Given the description of an element on the screen output the (x, y) to click on. 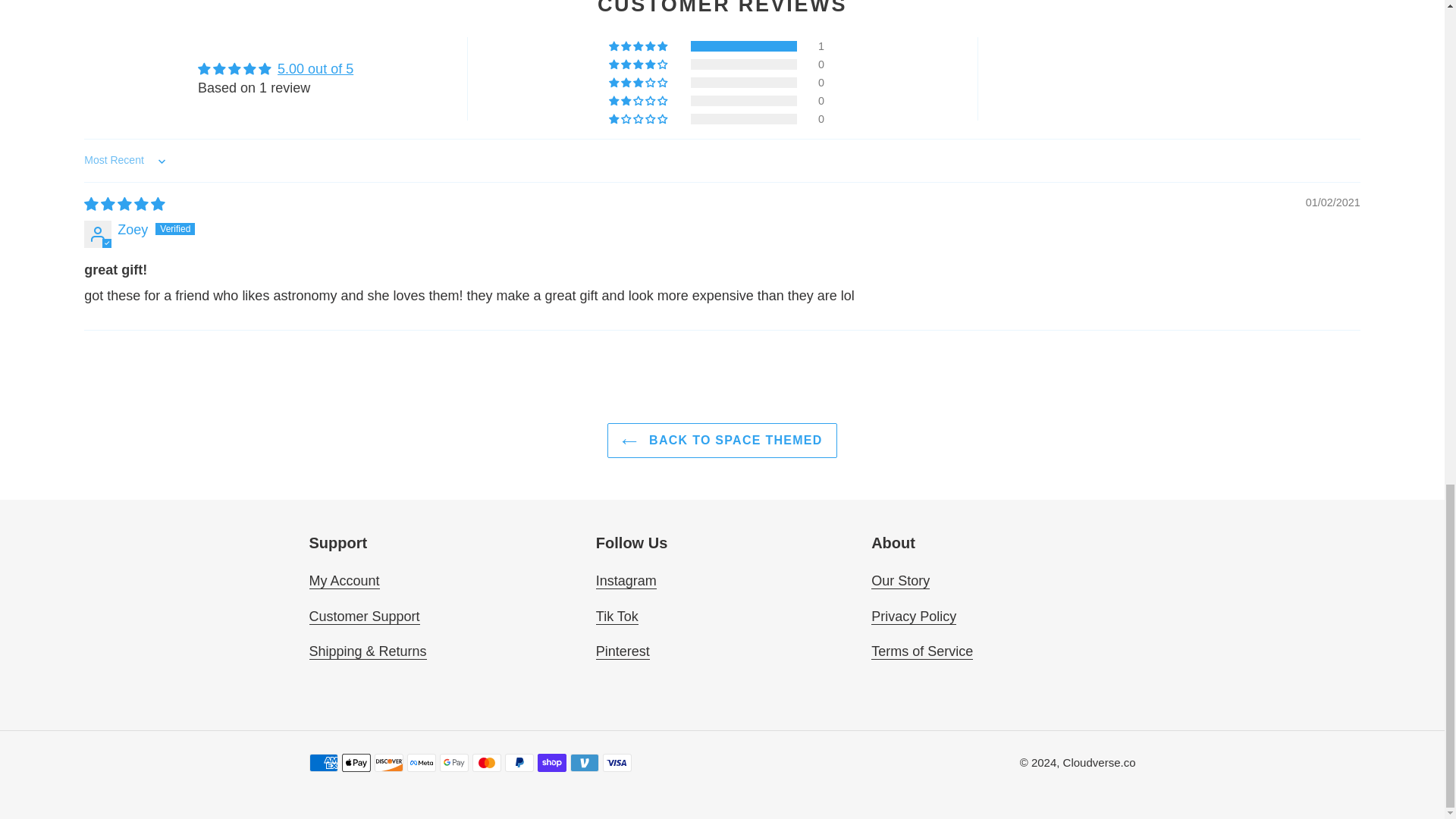
Terms of Service (921, 651)
Instagram (625, 580)
Cloudverses.co Instagram (625, 580)
Privacy Policy (913, 616)
Cloudverse.co (1098, 762)
Cloudverse Pinterest (622, 651)
Customer Support (364, 616)
My Account (344, 580)
Terms of Service (921, 651)
Cloudverse.co Tik Tok (617, 616)
Cloudverse.co Account Login (344, 580)
Our Story (900, 580)
Customer Support (364, 616)
Cloudverse Shipping and Returns Policy (367, 651)
Cloudverse About Us (900, 580)
